Given the description of an element on the screen output the (x, y) to click on. 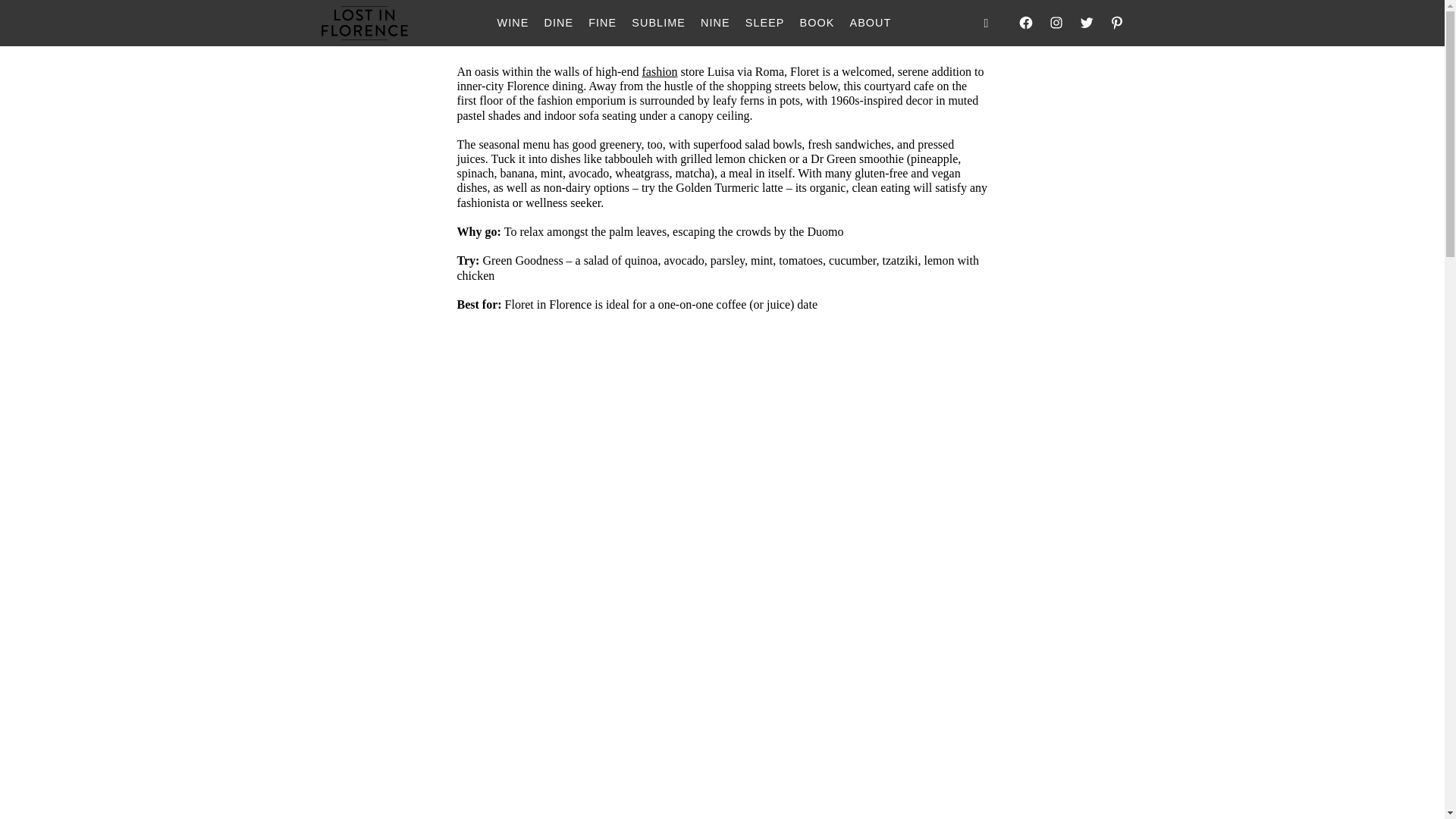
NINE (715, 22)
fashion (659, 71)
SLEEP (764, 22)
SUBLIME (658, 22)
WINE (513, 22)
FINE (601, 22)
BOOK (816, 22)
ABOUT (869, 22)
DINE (558, 22)
